Given the description of an element on the screen output the (x, y) to click on. 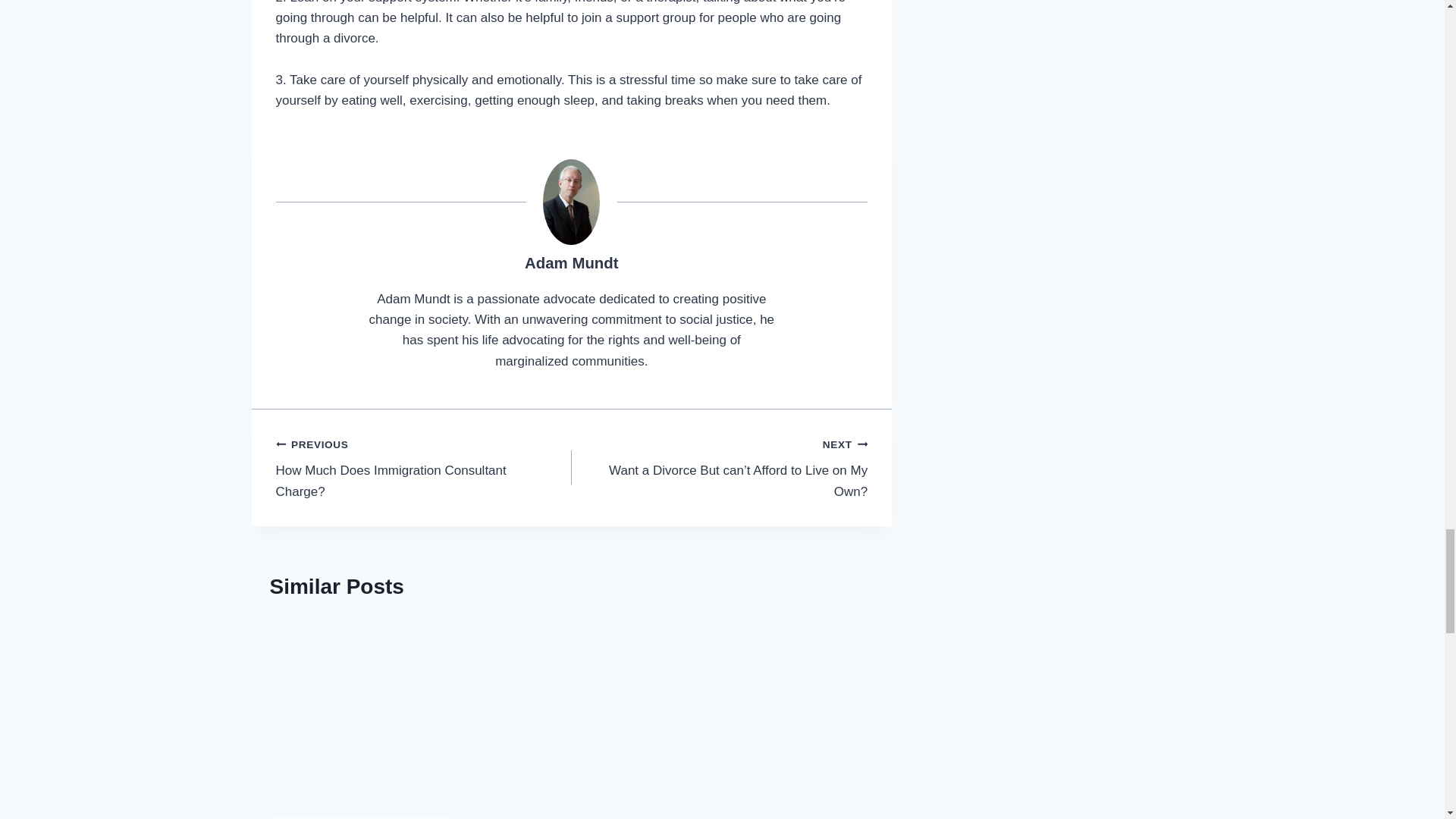
Posts by Adam Mundt (570, 262)
Adam Mundt (570, 262)
